Given the description of an element on the screen output the (x, y) to click on. 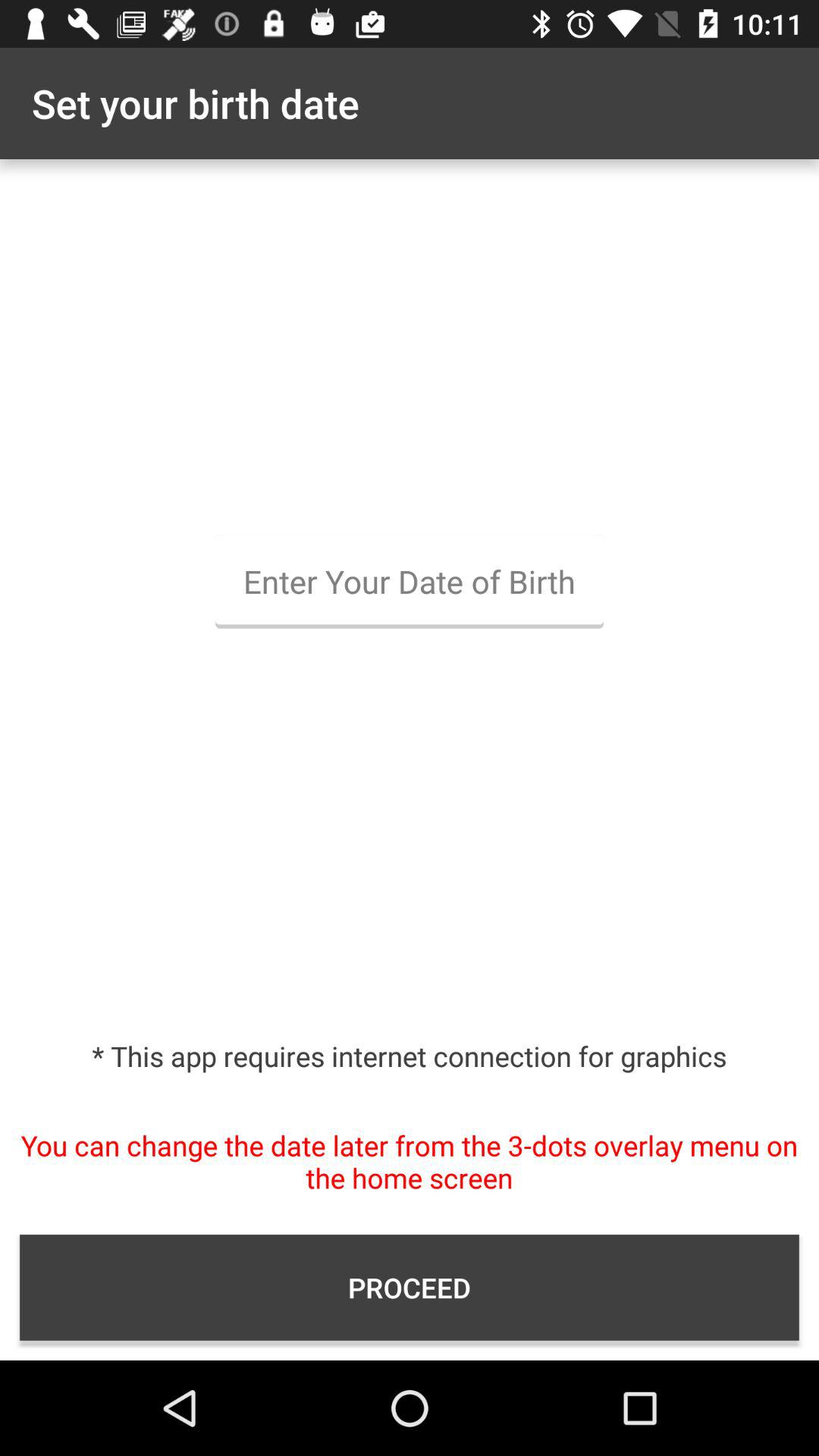
launch the proceed icon (409, 1287)
